Given the description of an element on the screen output the (x, y) to click on. 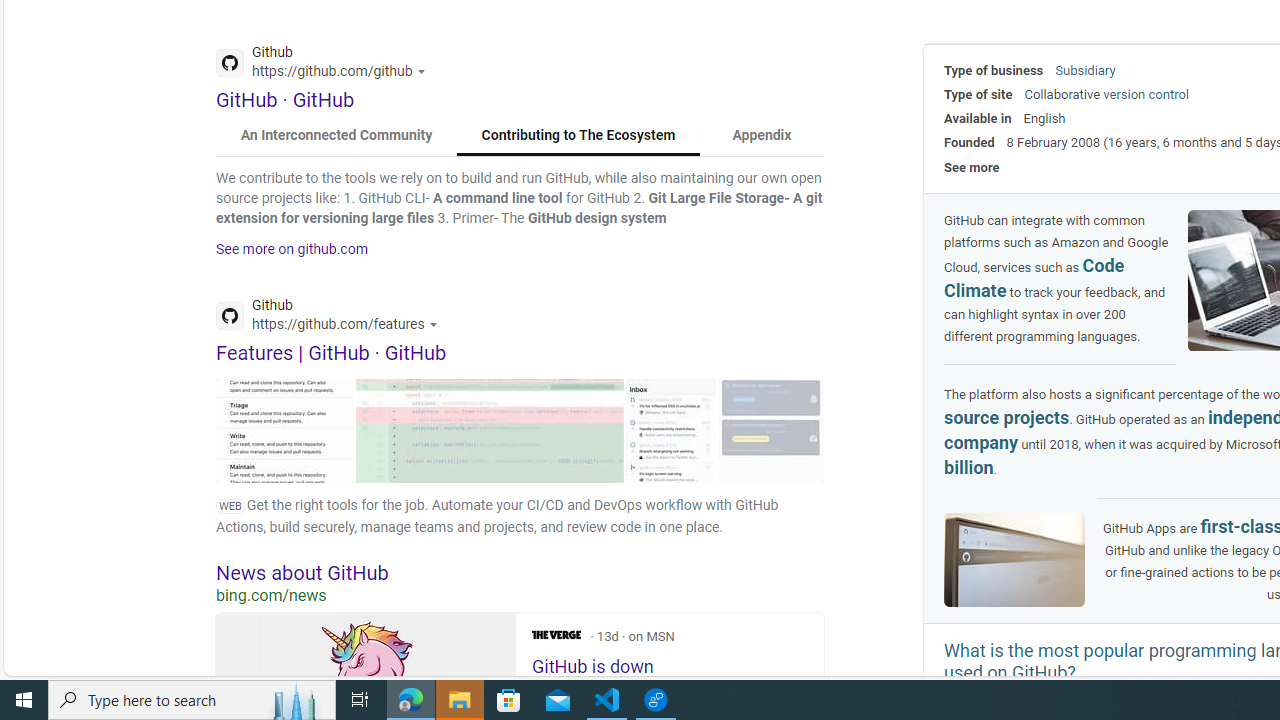
version control (1146, 94)
Image of GitHub (1014, 559)
Contributing to The Ecosystem (578, 135)
The Verge on MSN.com (556, 634)
Subsidiary (1085, 70)
Global web icon (229, 316)
News about GitHub (520, 572)
Founded (969, 142)
Actions for this site (435, 324)
Type of site (978, 94)
Available in (978, 117)
